Given the description of an element on the screen output the (x, y) to click on. 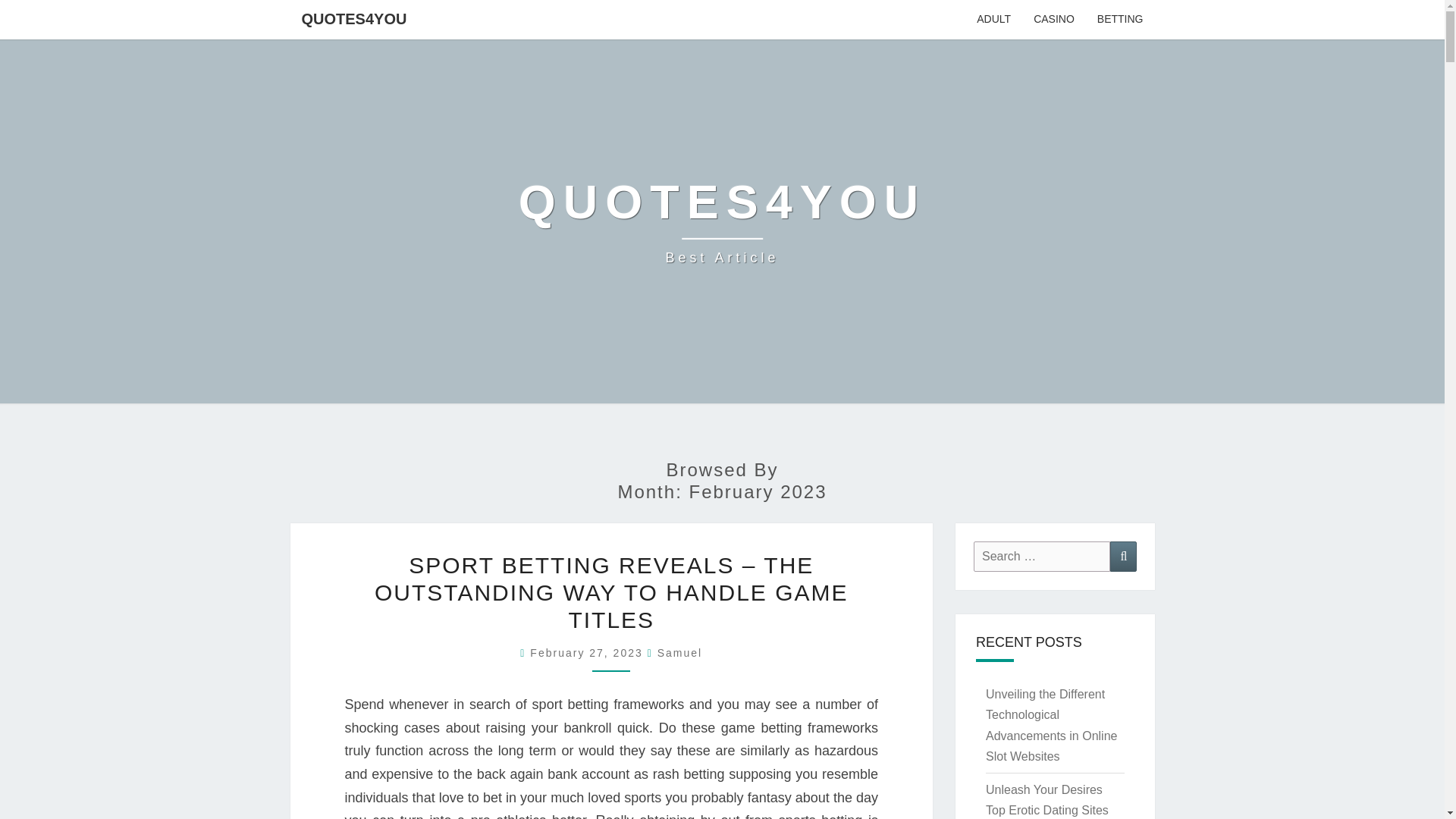
BETTING (1120, 19)
ADULT (993, 19)
QUOTES4YOU (353, 18)
12:11 pm (587, 653)
Quotes4you (722, 221)
CASINO (1054, 19)
View all posts by Samuel (722, 221)
February 27, 2023 (679, 653)
Samuel (587, 653)
